Given the description of an element on the screen output the (x, y) to click on. 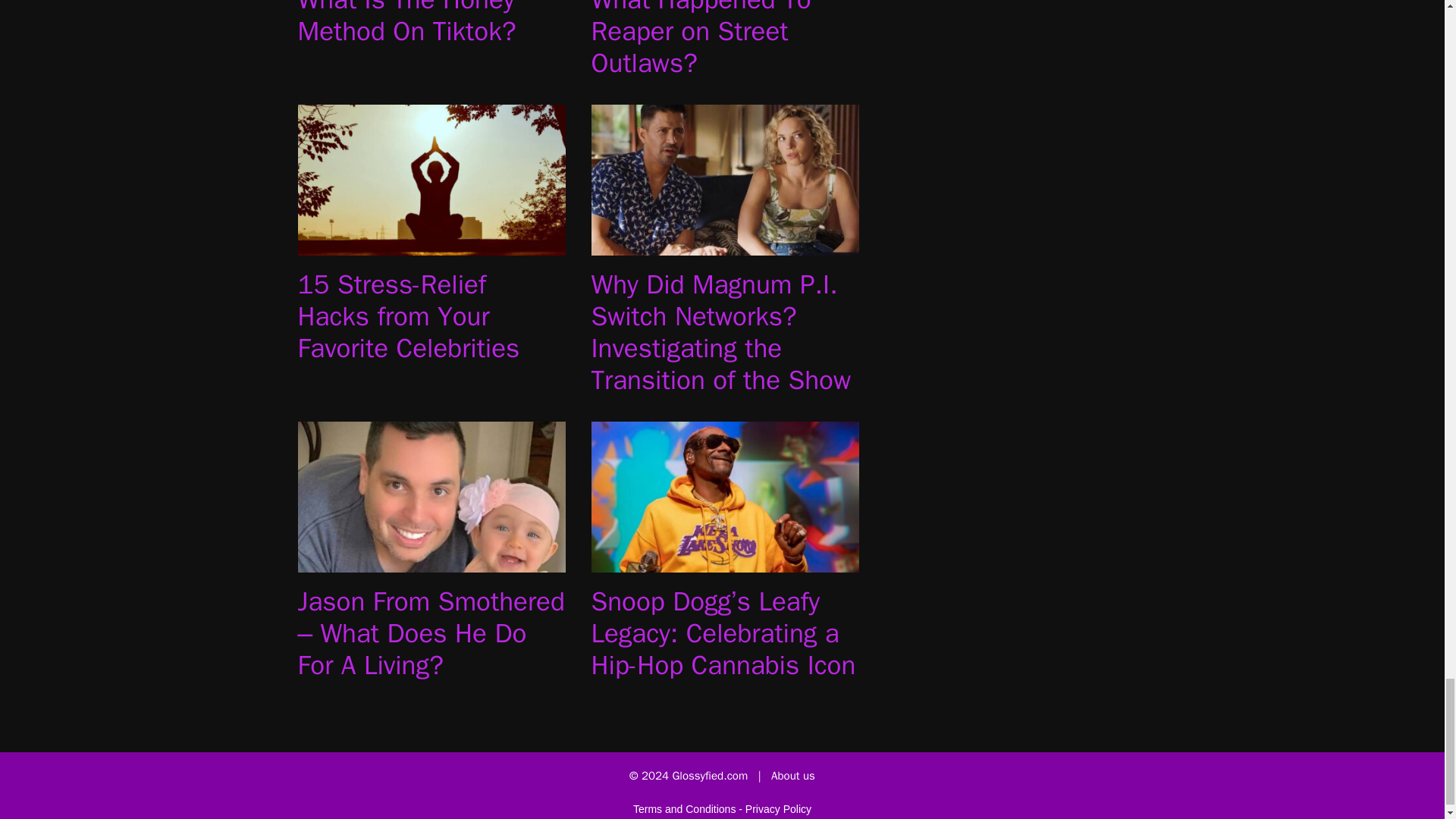
15 Stress-Relief Hacks from Your Favorite Celebrities (430, 245)
What Is The Honey Method On Tiktok? (406, 23)
15 Stress-Relief Hacks from Your Favorite Celebrities (408, 315)
What Happened To Reaper on Street Outlaws? (700, 39)
About us (793, 775)
